Given the description of an element on the screen output the (x, y) to click on. 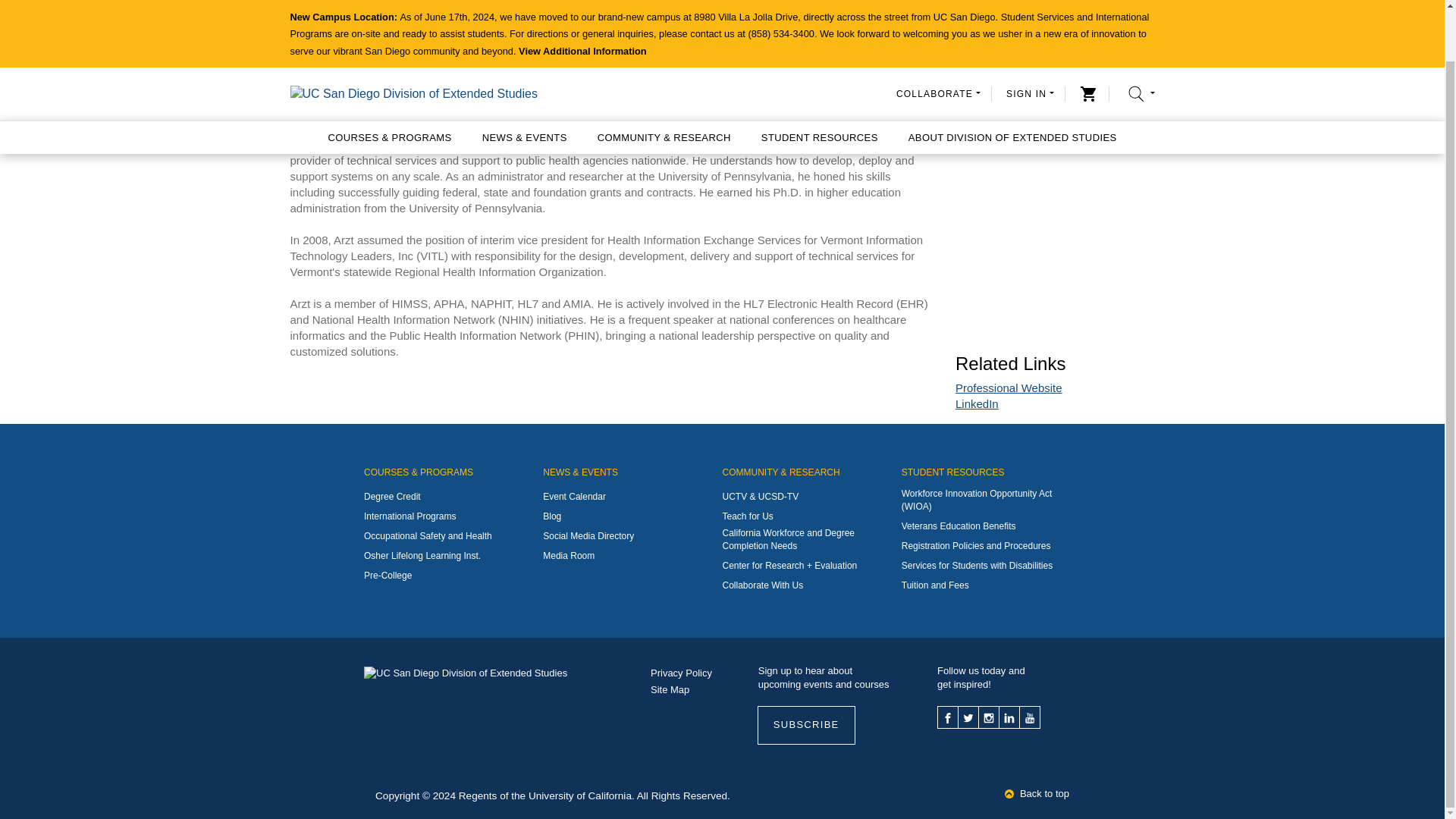
View Additional Information (582, 1)
SIGN IN (1030, 39)
COLLABORATE (937, 39)
